Given the description of an element on the screen output the (x, y) to click on. 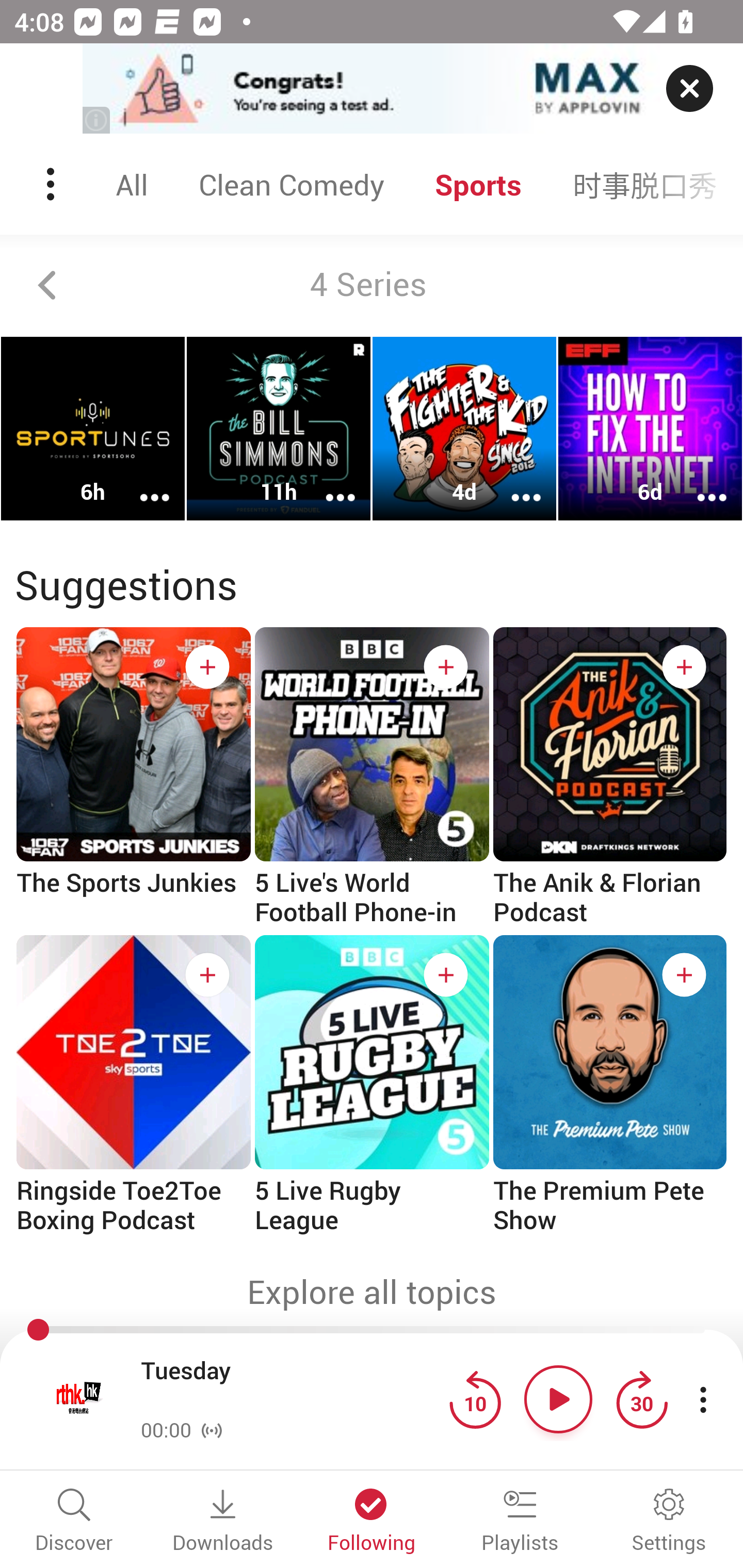
app-monetization (371, 88)
(i) (96, 119)
Menu (52, 184)
All (131, 184)
Clean Comedy (291, 184)
Sports (478, 184)
时事脱口秀 (644, 184)
4 Series (371, 285)
Sportunes HK 6h More options More options (92, 428)
The Fighter & The Kid 4d More options More options (464, 428)
More options (141, 484)
More options (326, 484)
More options (512, 484)
More options (698, 484)
Subscribe button (207, 666)
Subscribe button (446, 666)
Subscribe button (684, 666)
Subscribe button (207, 974)
Subscribe button (446, 974)
Subscribe button (684, 974)
Explore all topics (371, 1291)
Open fullscreen player (79, 1399)
More player controls (703, 1399)
Tuesday (290, 1385)
Play button (558, 1398)
Jump back (475, 1399)
Jump forward (641, 1399)
Discover (74, 1521)
Downloads (222, 1521)
Following (371, 1521)
Playlists (519, 1521)
Settings (668, 1521)
